Given the description of an element on the screen output the (x, y) to click on. 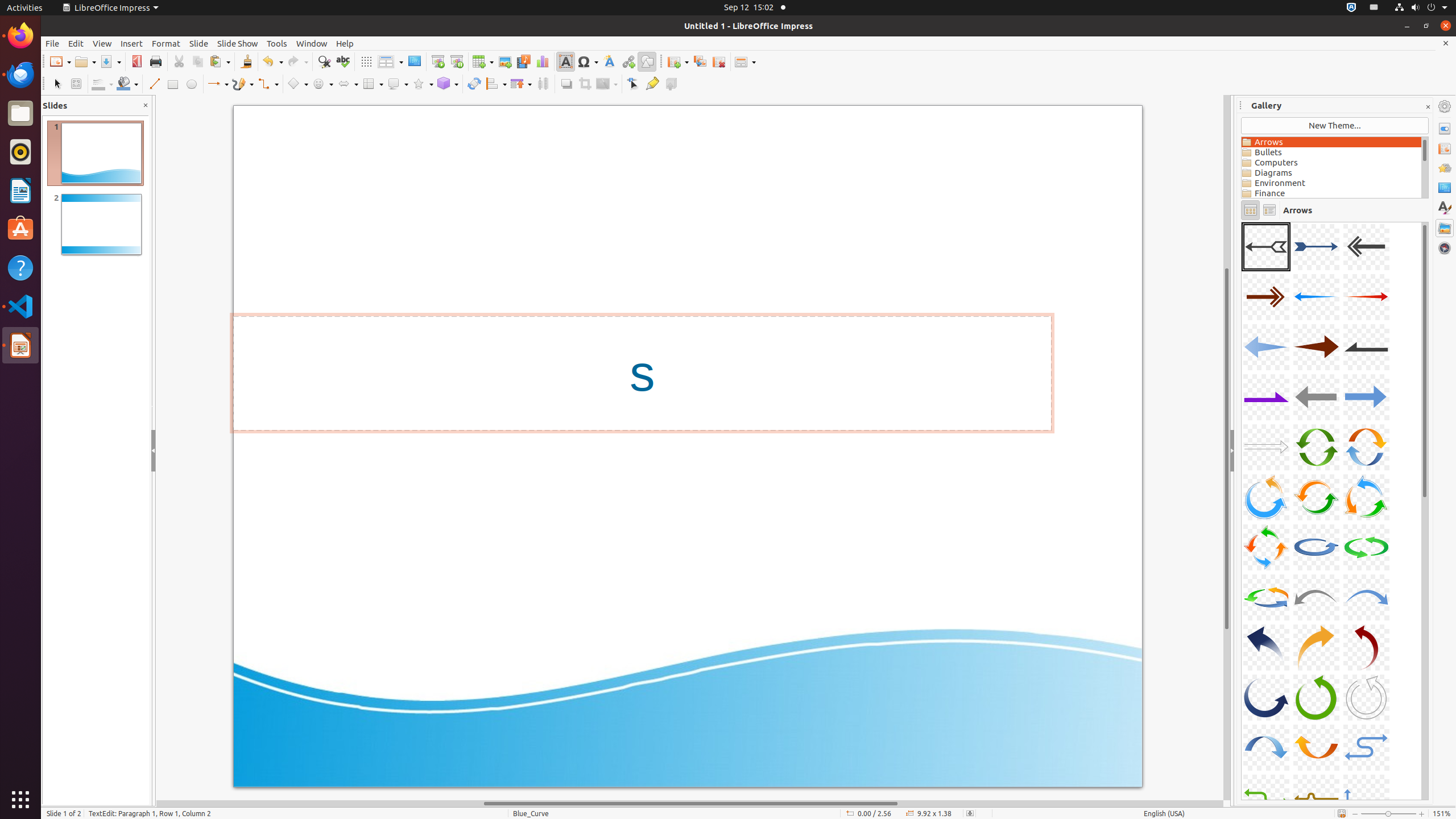
A30-CurvedArrow-Gray Element type: list-item (1365, 696)
A35-CurvedArrow-Brown-Left Element type: list-item (1241, 222)
Arrow Shapes Element type: push-button (347, 83)
Tools Element type: menu (276, 43)
New Theme Element type: push-button (1334, 125)
